Given the description of an element on the screen output the (x, y) to click on. 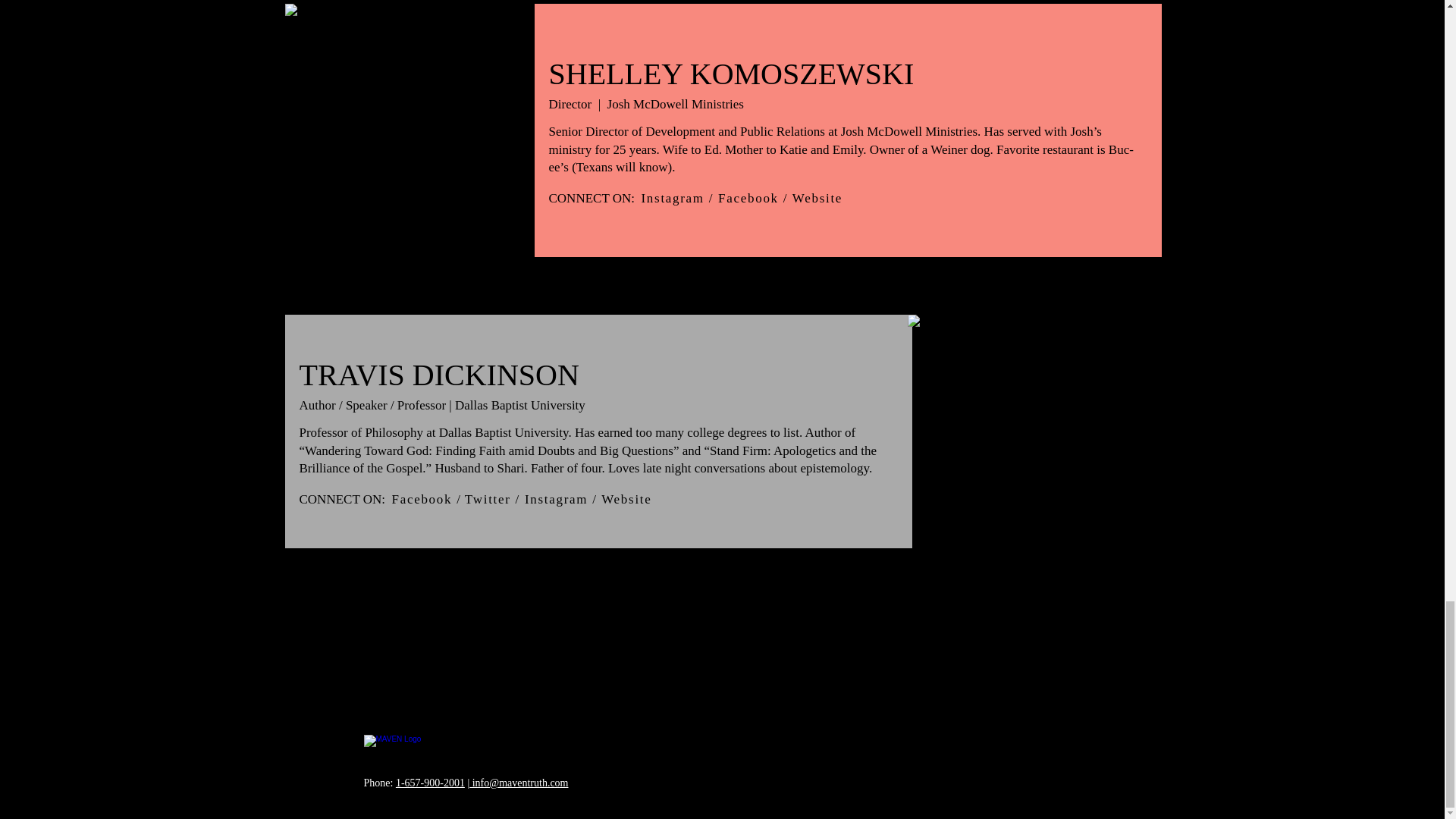
Facebook (421, 499)
Twitter (487, 499)
Instagram (673, 197)
Website (625, 499)
Facebook (747, 197)
Website (817, 197)
Instagram (556, 499)
